Given the description of an element on the screen output the (x, y) to click on. 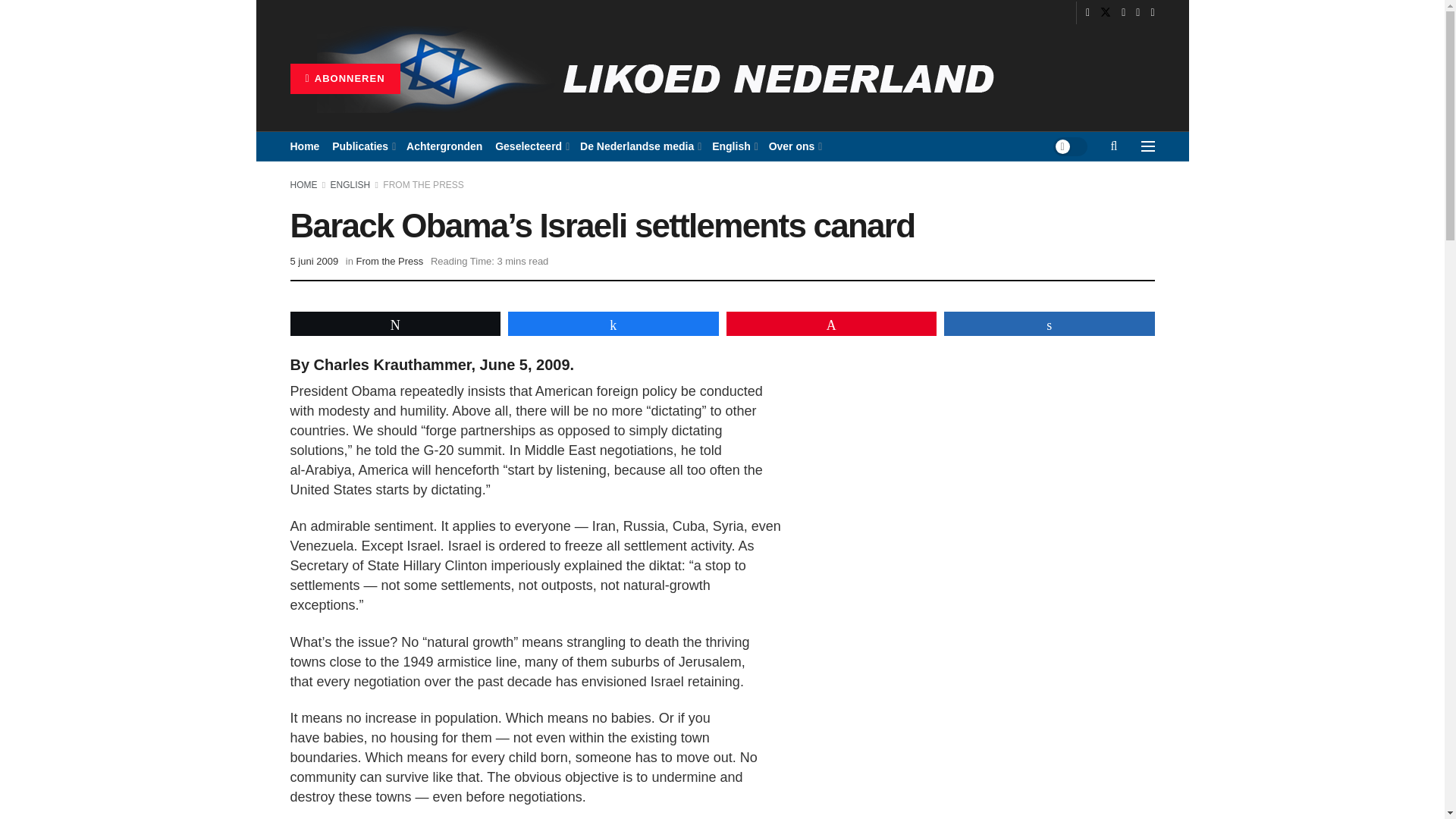
Geselecteerd (531, 145)
Achtergronden (443, 145)
ABONNEREN (343, 78)
Publicaties (362, 145)
De Nederlandse media (638, 145)
Over ons (794, 145)
Home (303, 145)
English (733, 145)
